Given the description of an element on the screen output the (x, y) to click on. 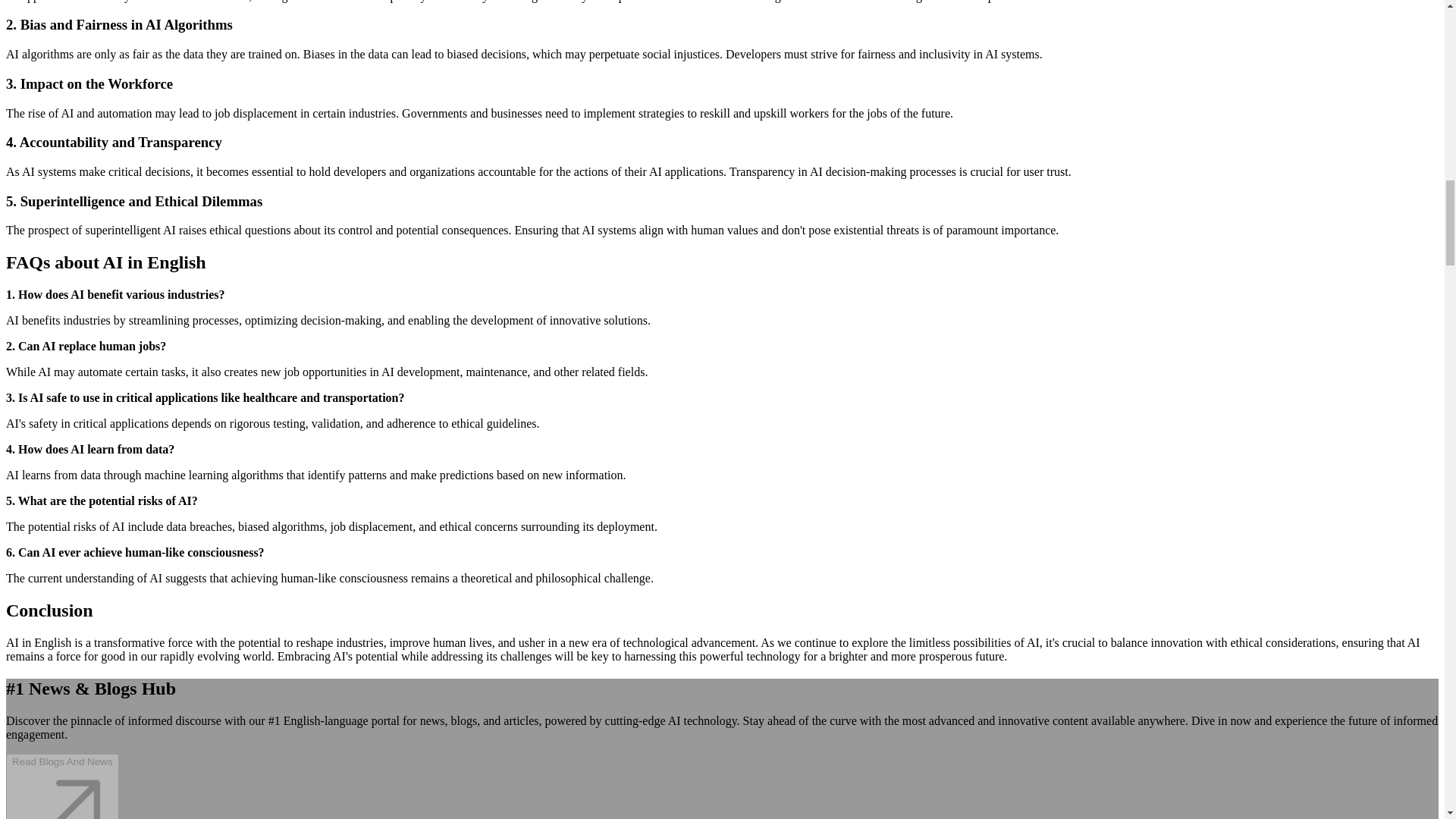
Read Blogs And News (62, 786)
